Given the description of an element on the screen output the (x, y) to click on. 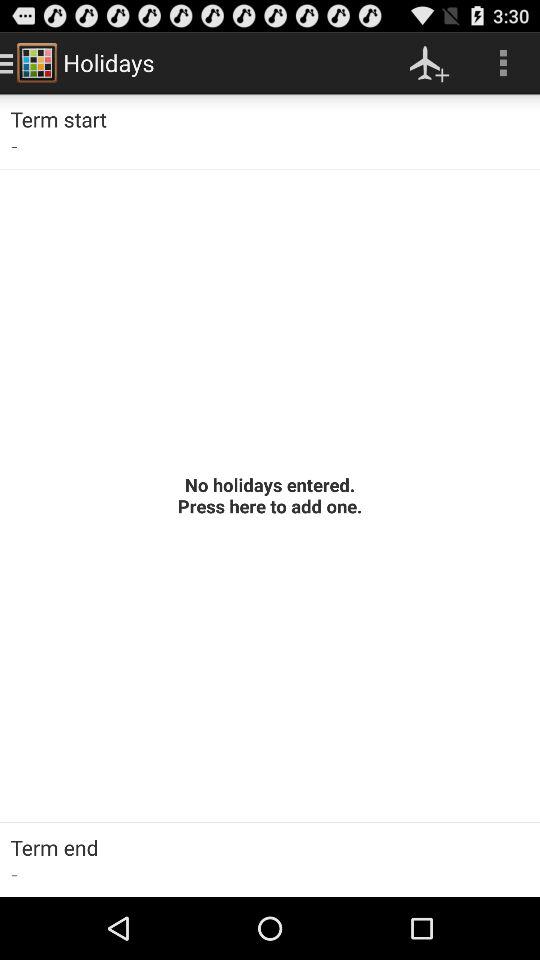
press item above term end (270, 495)
